Given the description of an element on the screen output the (x, y) to click on. 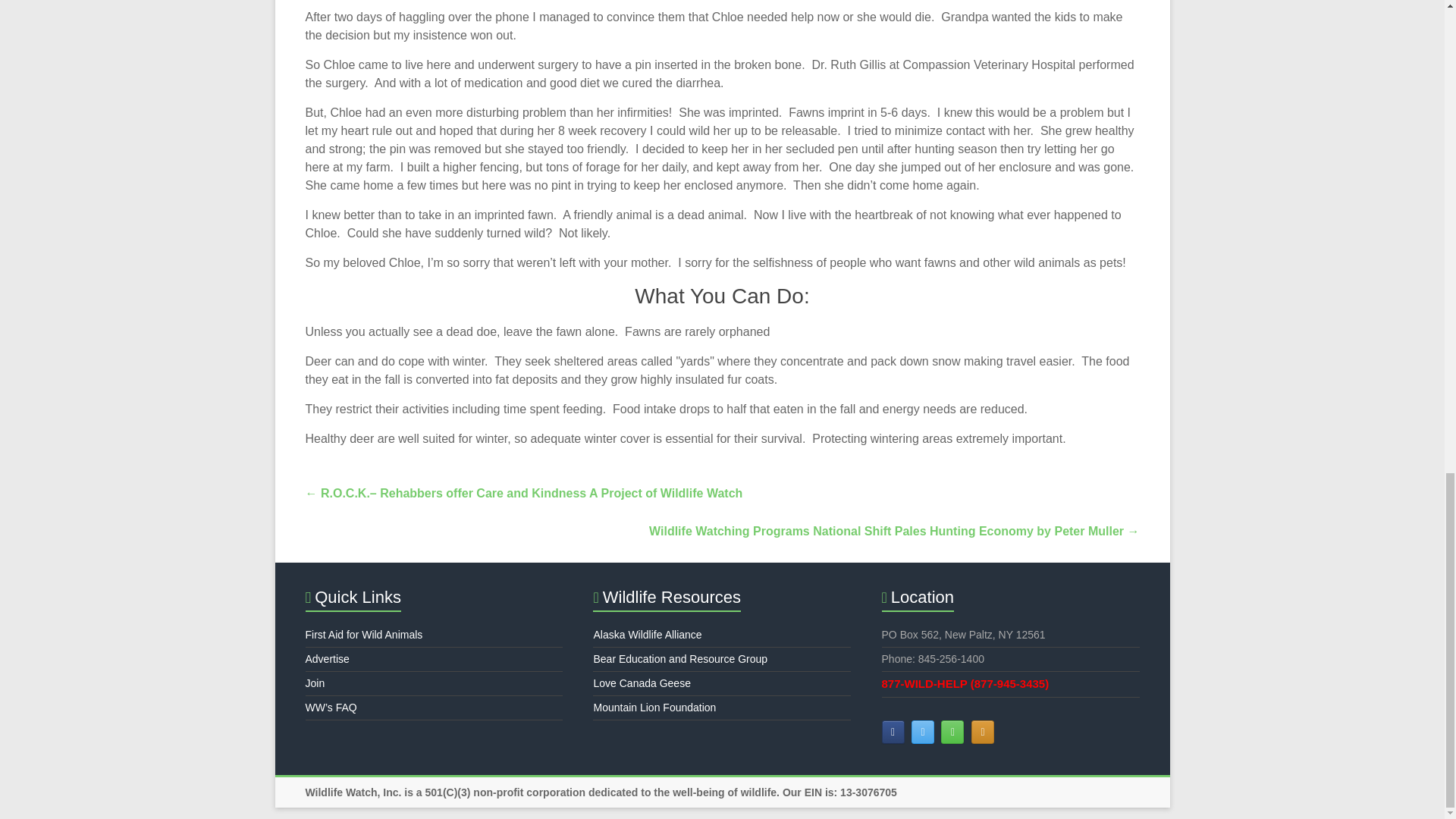
First Aid for Wild Animals (363, 634)
Instagram (982, 731)
Bear Education and Resource Group (679, 658)
Advertise (326, 658)
Love Canada Geese (641, 683)
Mountain Lion Foundation (654, 707)
Twitter (922, 731)
Join (314, 683)
Facebook (893, 731)
Email (951, 731)
